Given the description of an element on the screen output the (x, y) to click on. 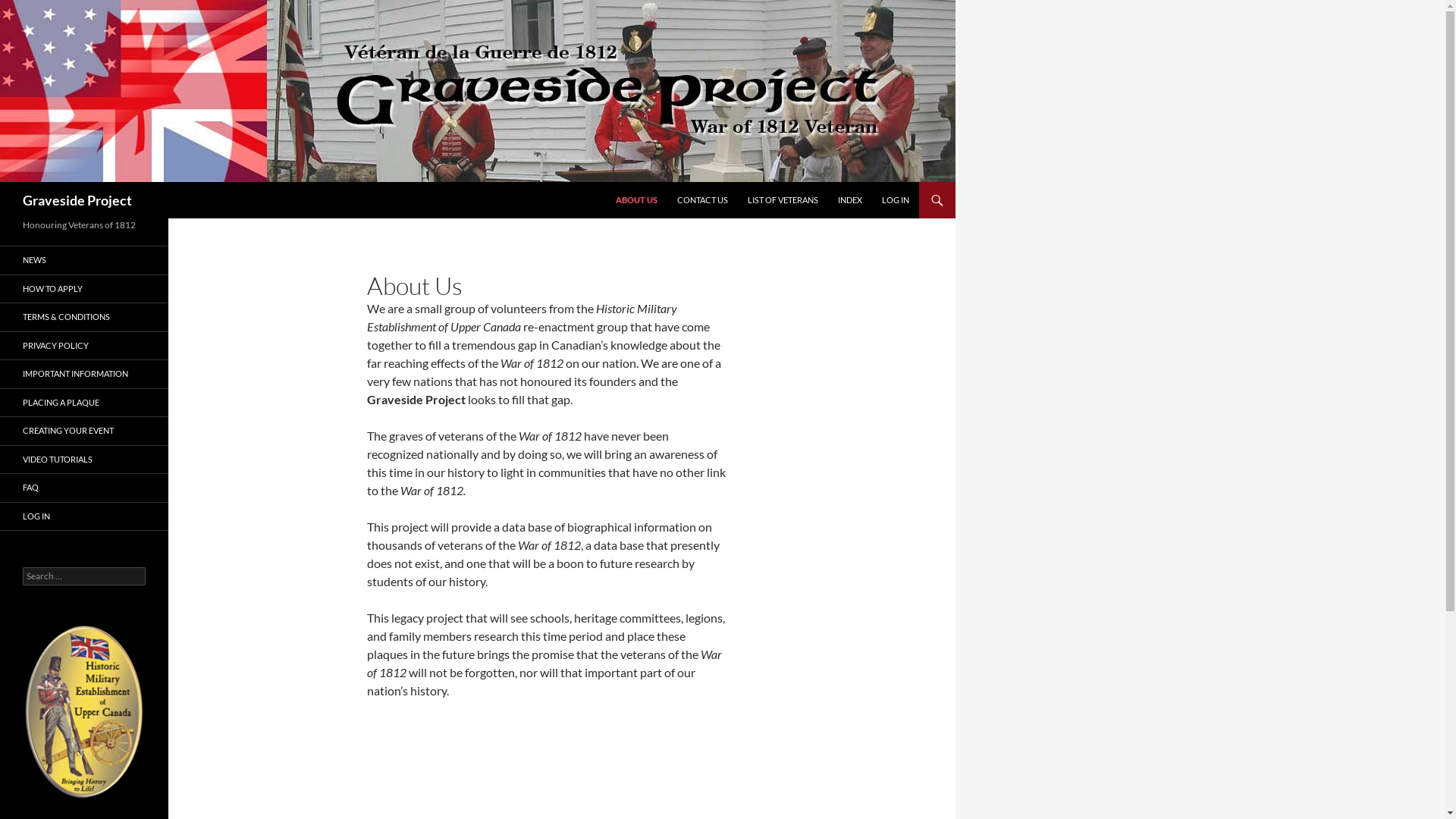
LOG IN Element type: text (84, 516)
FAQ Element type: text (84, 487)
Search Element type: text (29, 9)
PLACING A PLAQUE Element type: text (84, 402)
IMPORTANT INFORMATION Element type: text (84, 374)
PRIVACY POLICY Element type: text (84, 346)
HOW TO APPLY Element type: text (84, 288)
TERMS & CONDITIONS Element type: text (84, 317)
CREATING YOUR EVENT Element type: text (84, 431)
VIDEO TUTORIALS Element type: text (84, 459)
INDEX Element type: text (849, 200)
Search Element type: text (3, 181)
ABOUT US Element type: text (636, 200)
NEWS Element type: text (84, 260)
SKIP TO CONTENT Element type: text (614, 181)
CONTACT US Element type: text (702, 200)
LIST OF VETERANS Element type: text (782, 200)
Graveside Project Element type: text (76, 200)
LOG IN Element type: text (895, 200)
